Given the description of an element on the screen output the (x, y) to click on. 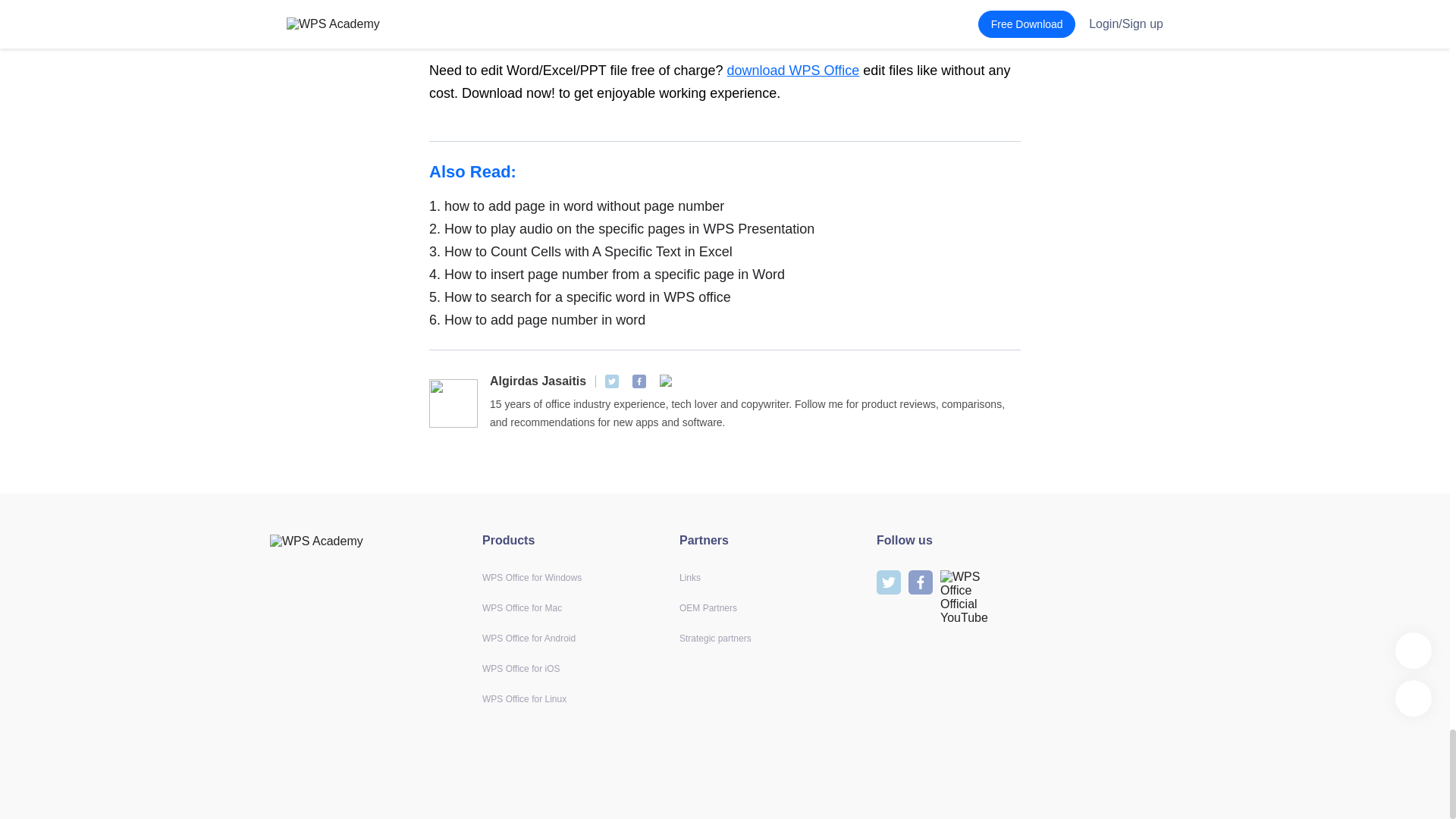
Algirdas Jasaitis (537, 381)
WPS Office for Android (528, 638)
WPS Office for iOS (520, 668)
How to search for a specific word in WPS office (724, 296)
WPS Office for Linux (523, 698)
download WPS Office (793, 70)
OEM Partners (707, 607)
how to add page in word without page number (724, 205)
WPS Office for Mac (521, 607)
